Given the description of an element on the screen output the (x, y) to click on. 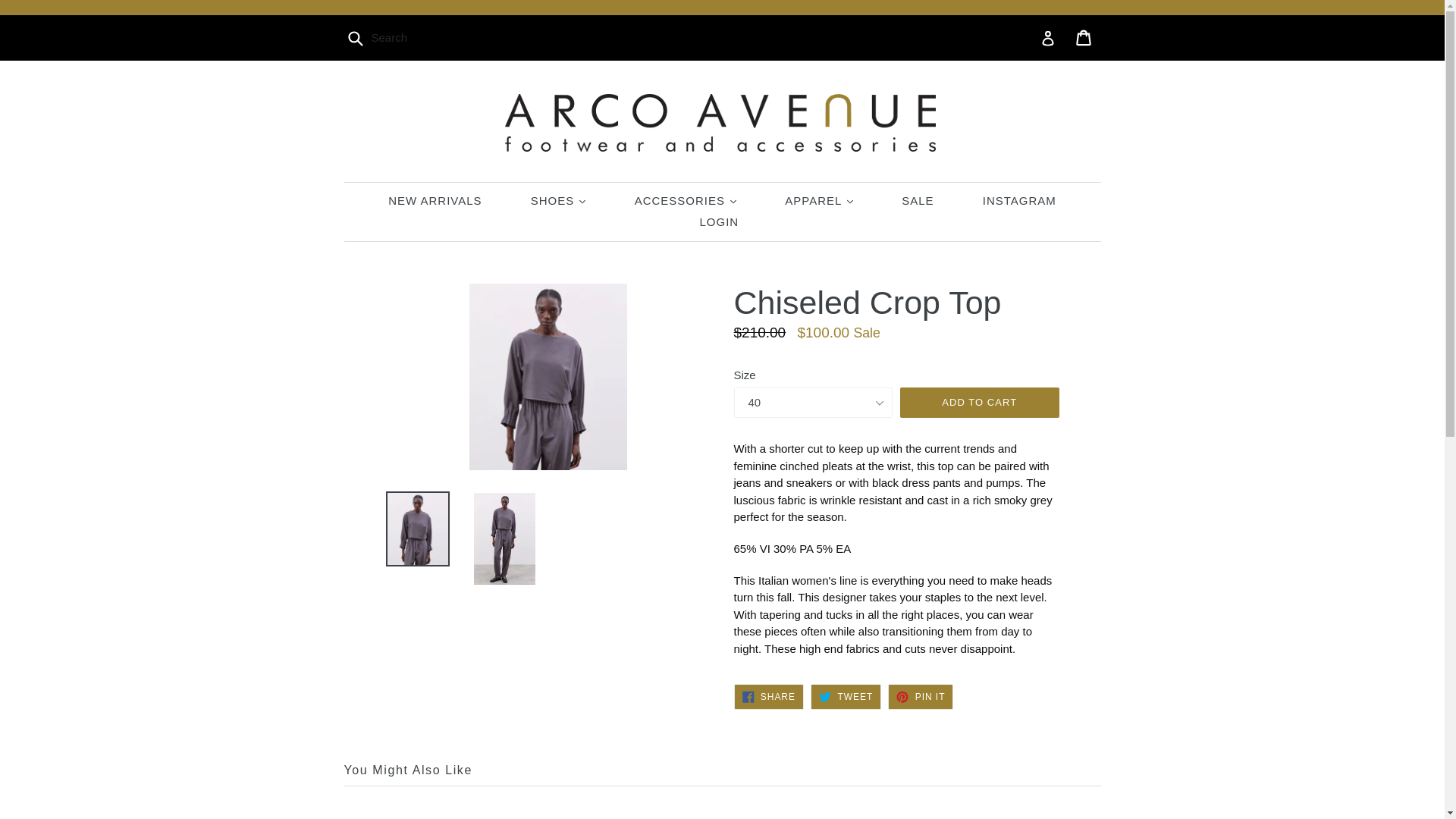
Pin on Pinterest (920, 696)
NEW ARRIVALS (434, 200)
Tweet on Twitter (845, 696)
Share on Facebook (768, 696)
